Given the description of an element on the screen output the (x, y) to click on. 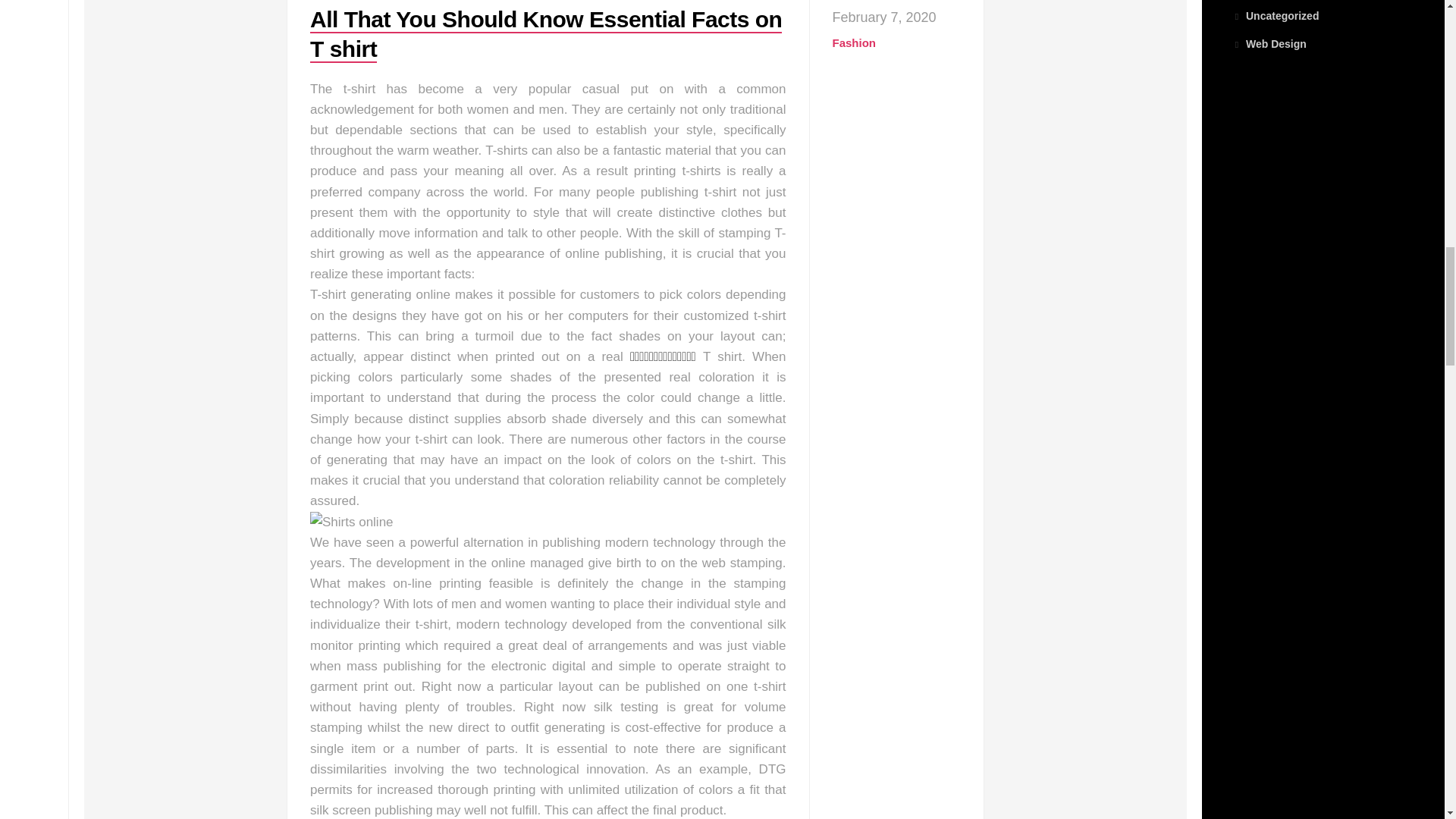
Uncategorized (1275, 15)
